Given the description of an element on the screen output the (x, y) to click on. 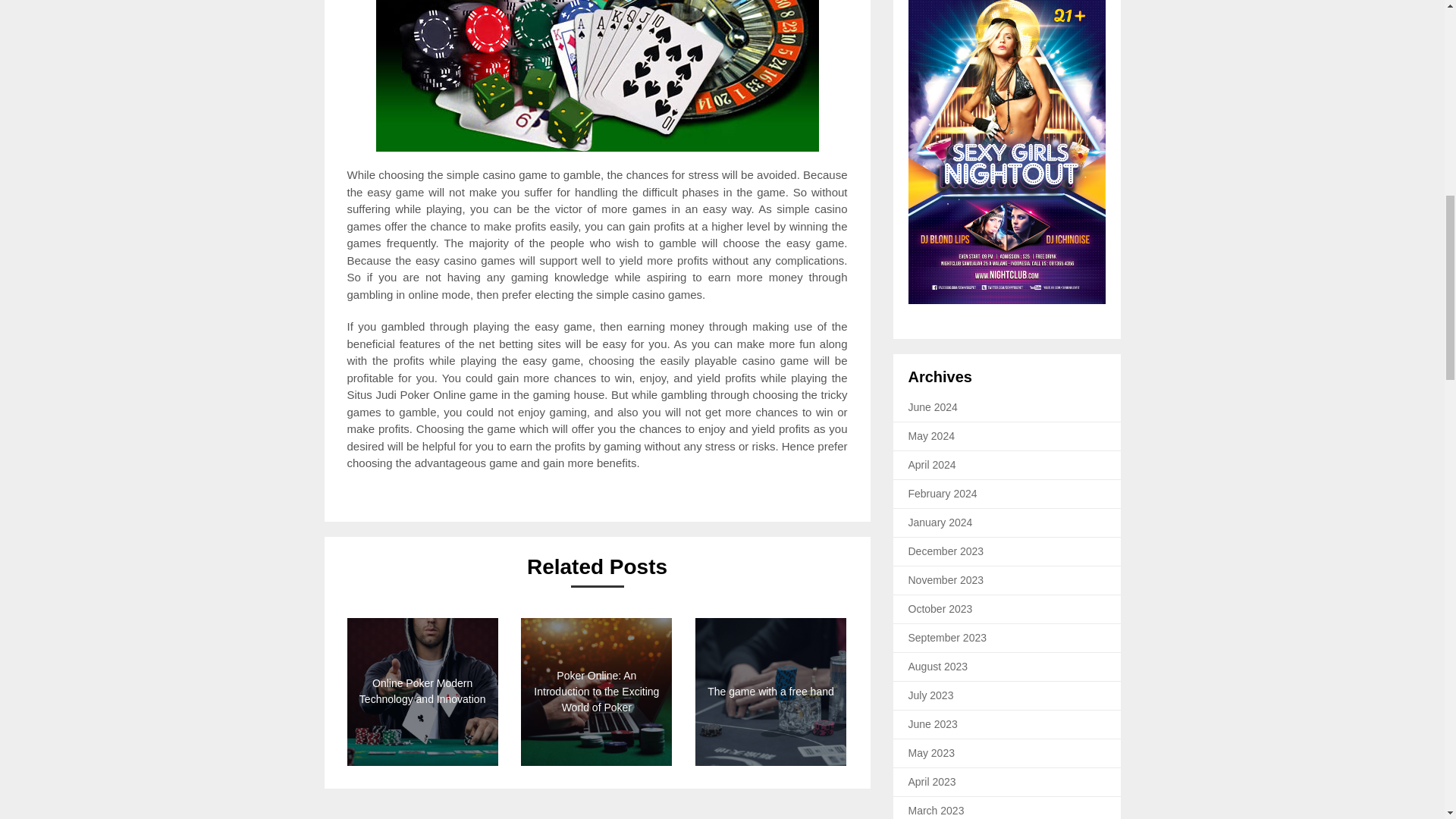
July 2023 (930, 695)
November 2023 (946, 580)
September 2023 (947, 637)
March 2023 (935, 810)
June 2024 (933, 407)
April 2023 (932, 781)
December 2023 (946, 551)
October 2023 (940, 608)
August 2023 (938, 666)
June 2023 (933, 724)
